Given the description of an element on the screen output the (x, y) to click on. 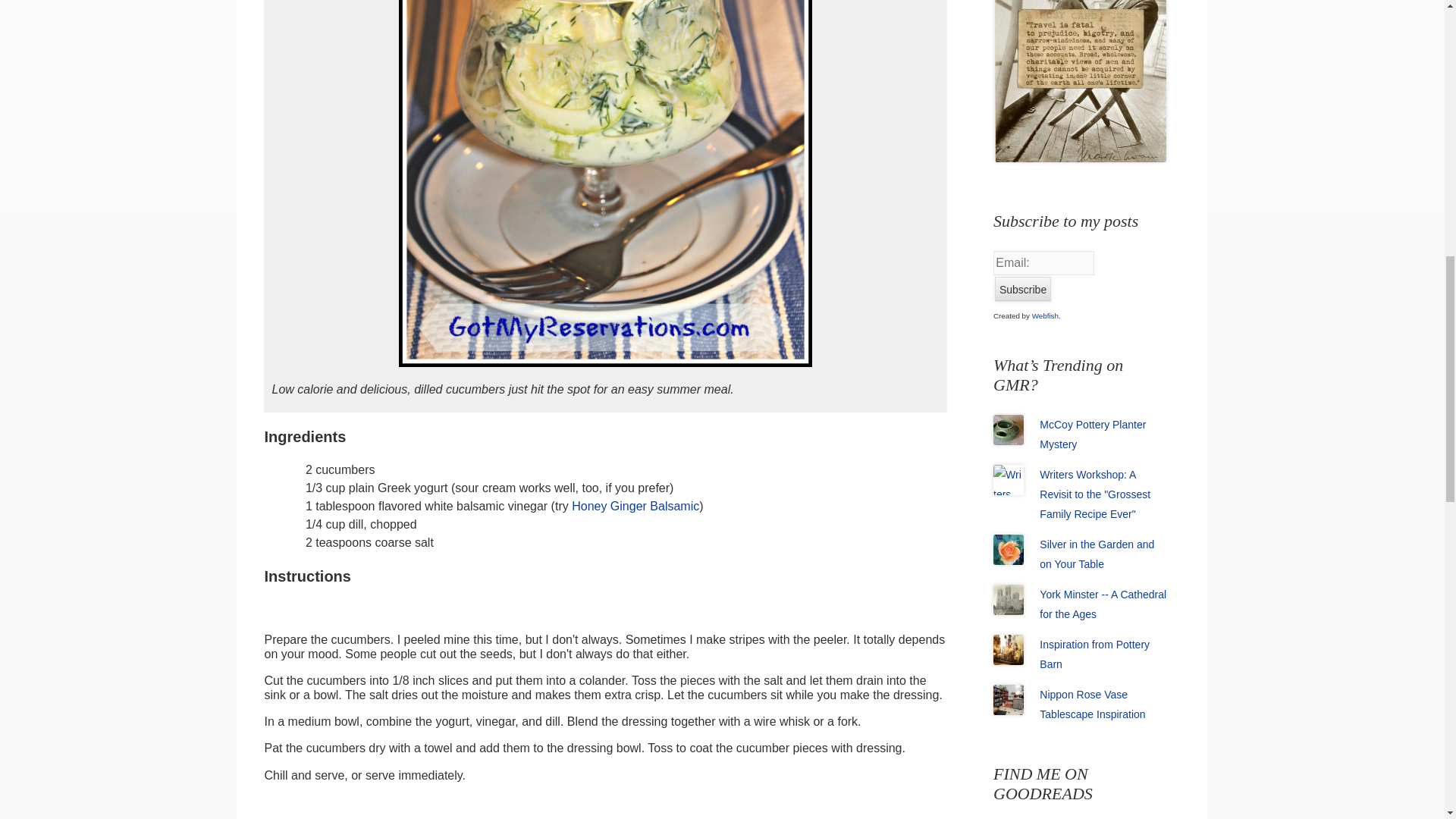
Subscribe (1021, 289)
Honey Ginger Balsamic (635, 505)
